Given the description of an element on the screen output the (x, y) to click on. 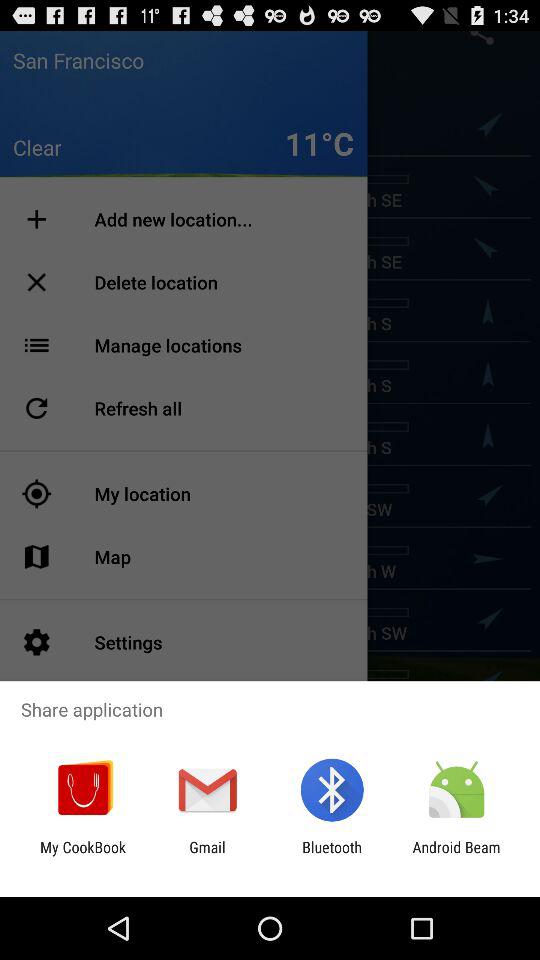
choose item to the left of the gmail icon (83, 856)
